Given the description of an element on the screen output the (x, y) to click on. 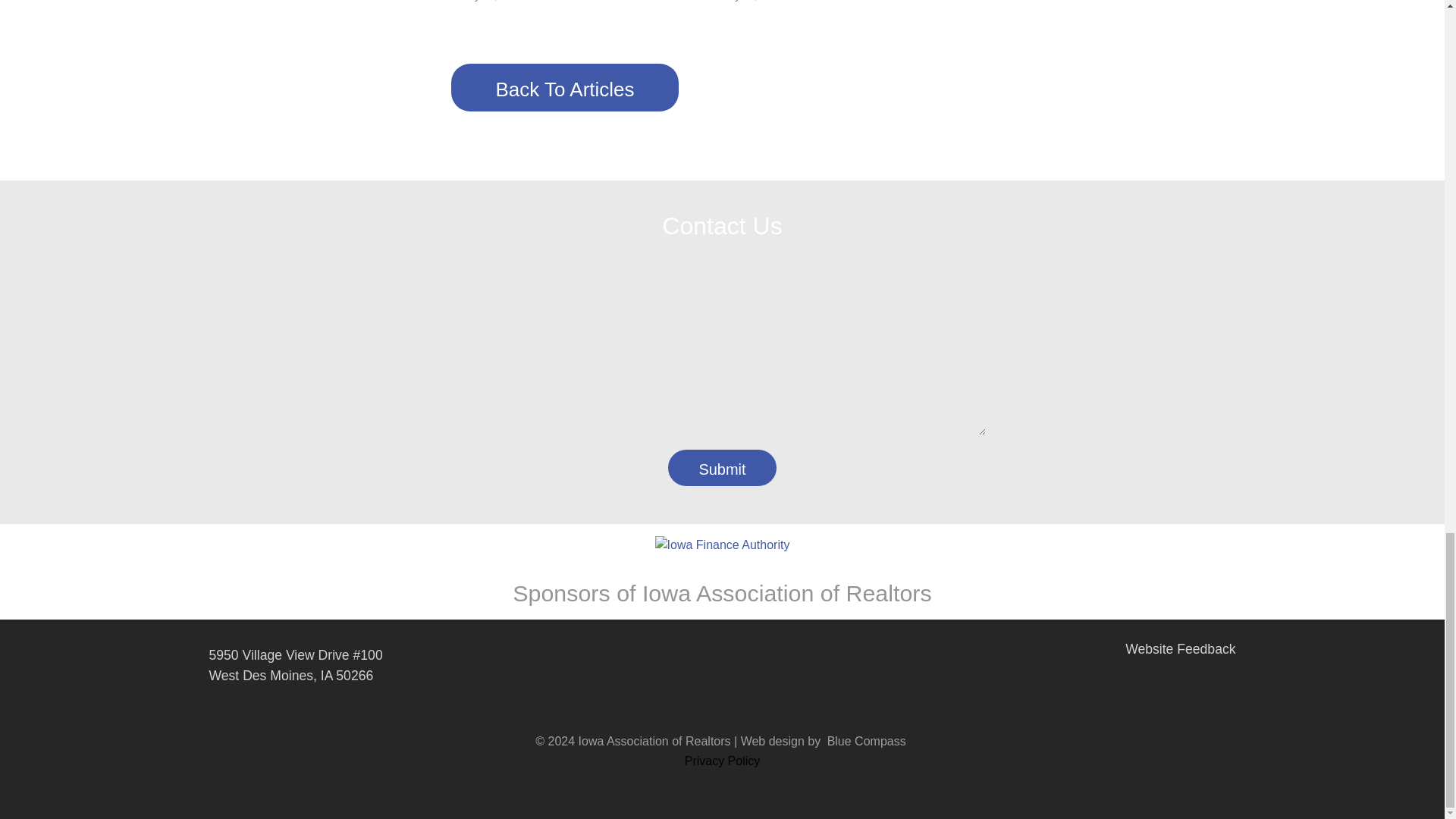
IAR Forms Update (1091, 27)
Privacy Policy (722, 760)
Inventory Remains Bright Spot In June Iowa Housing Market  (832, 15)
